Given the description of an element on the screen output the (x, y) to click on. 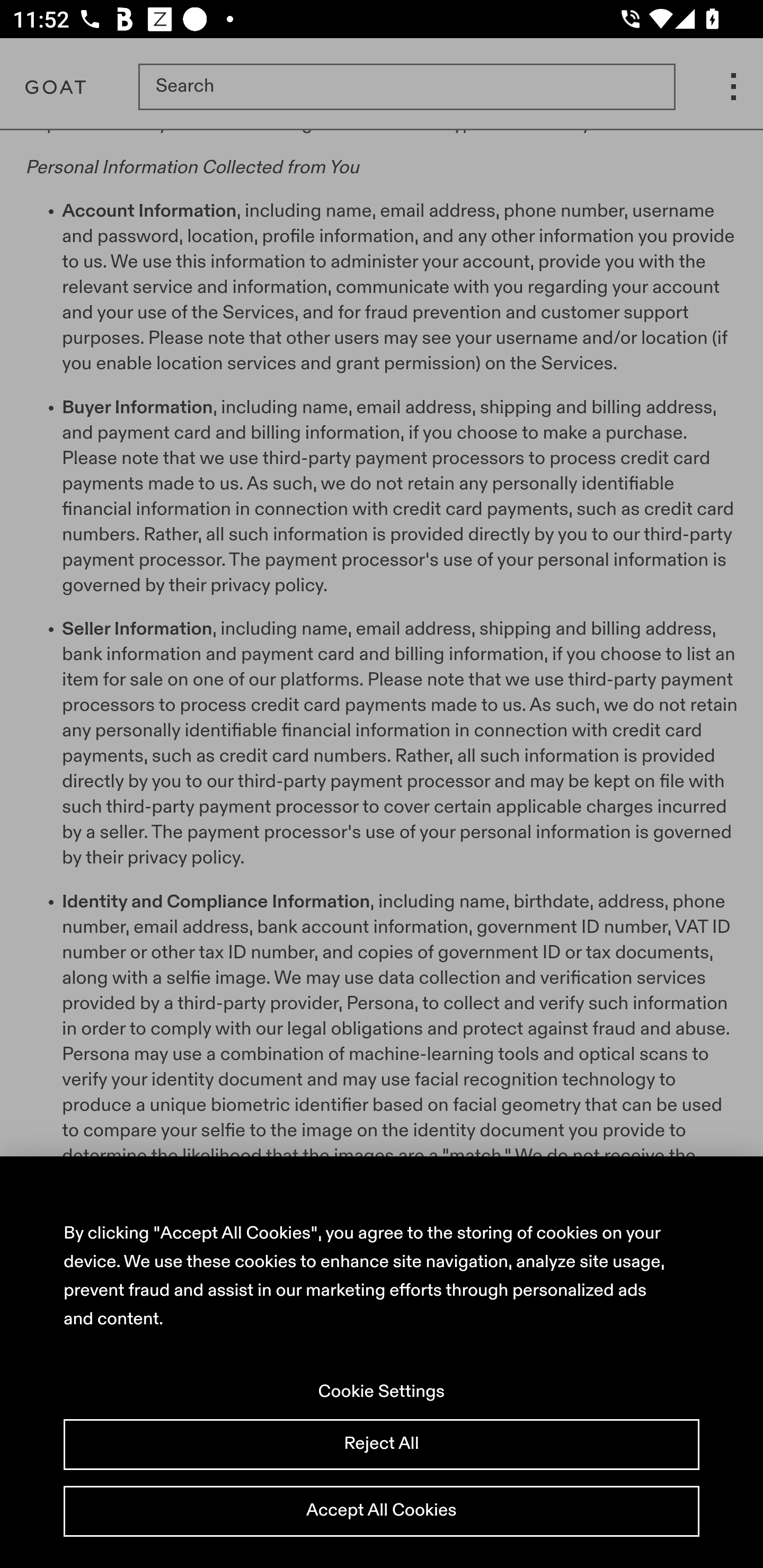
Cookie Settings (381, 1393)
Reject All (381, 1445)
Accept All Cookies (381, 1512)
